Given the description of an element on the screen output the (x, y) to click on. 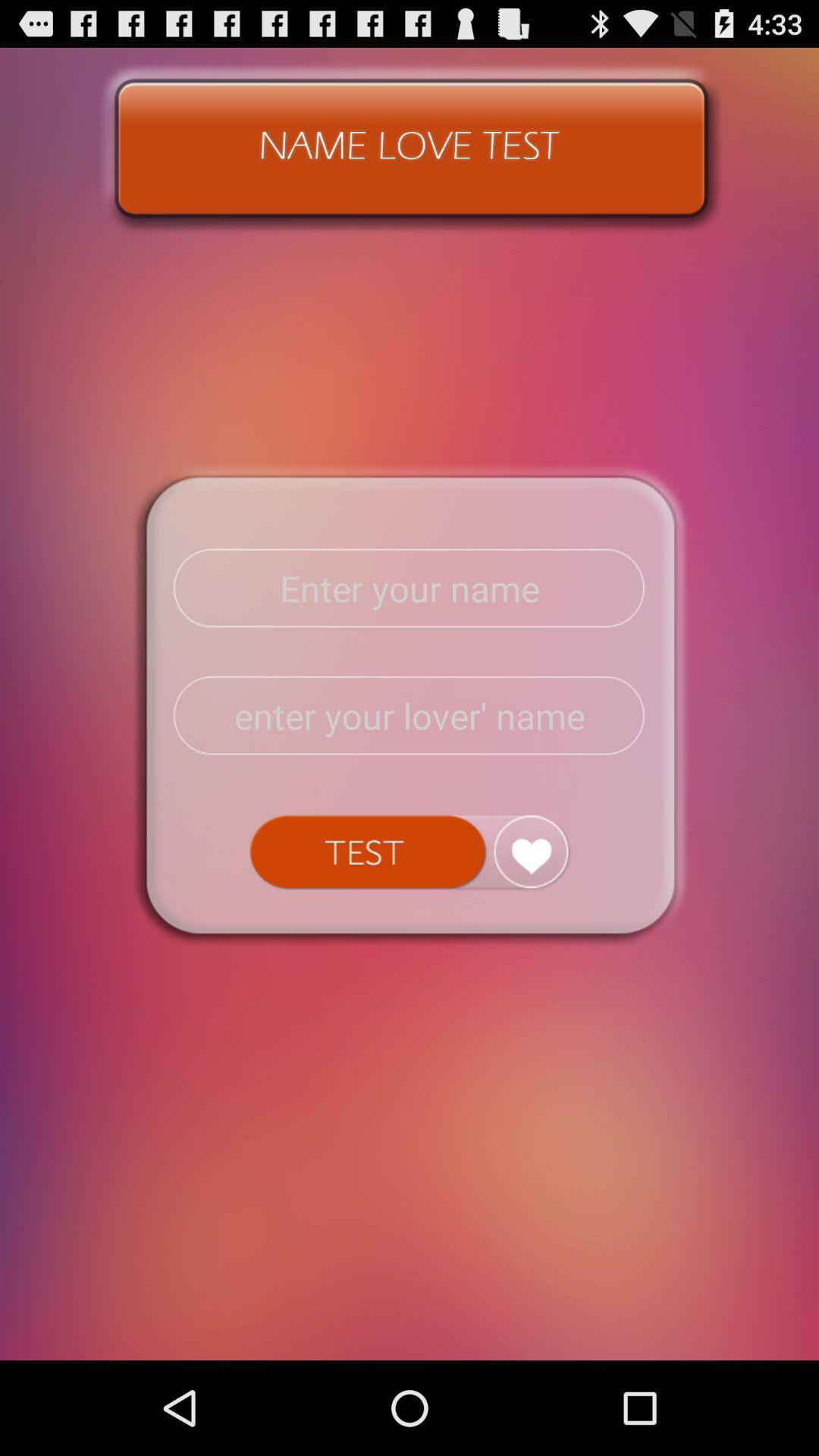
enter name (409, 588)
